Given the description of an element on the screen output the (x, y) to click on. 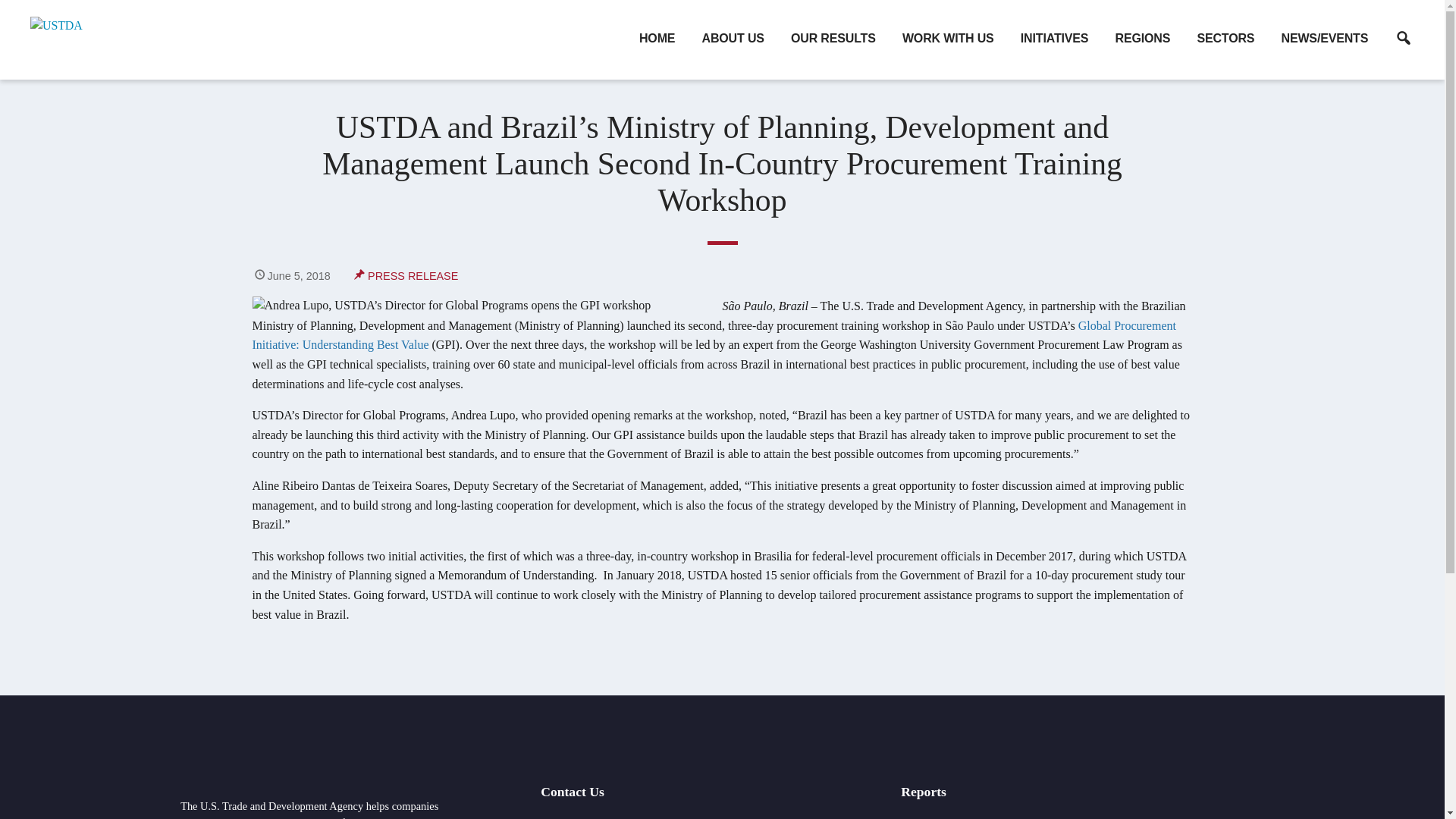
WORK WITH US (947, 39)
SECTORS (1225, 39)
REGIONS (1142, 39)
OUR RESULTS (832, 39)
INITIATIVES (1054, 39)
ABOUT US (732, 39)
